Given the description of an element on the screen output the (x, y) to click on. 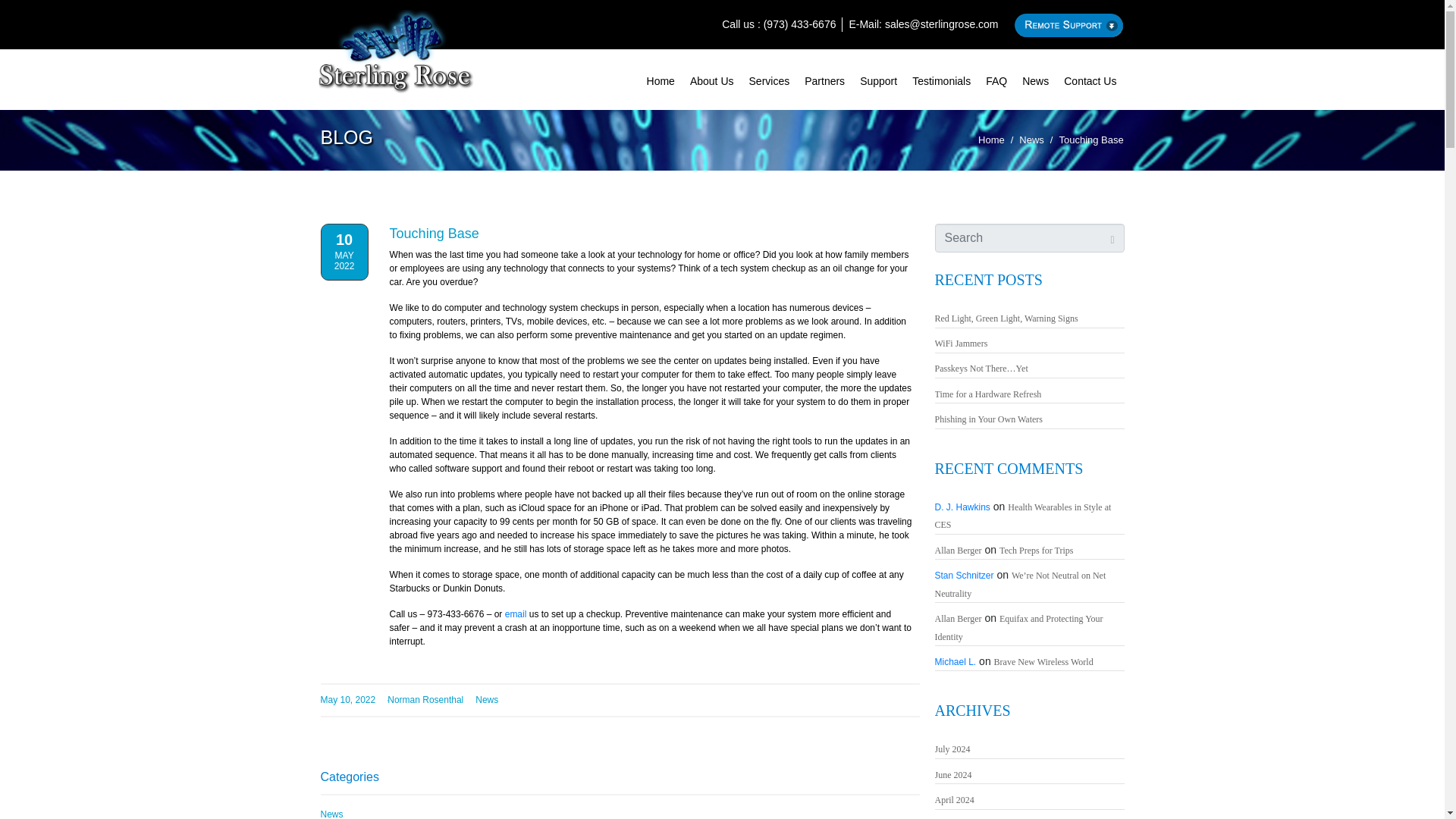
Contact Us (1090, 79)
Testimonials (941, 79)
Services (769, 79)
Partners (823, 79)
About Us (711, 79)
